Given the description of an element on the screen output the (x, y) to click on. 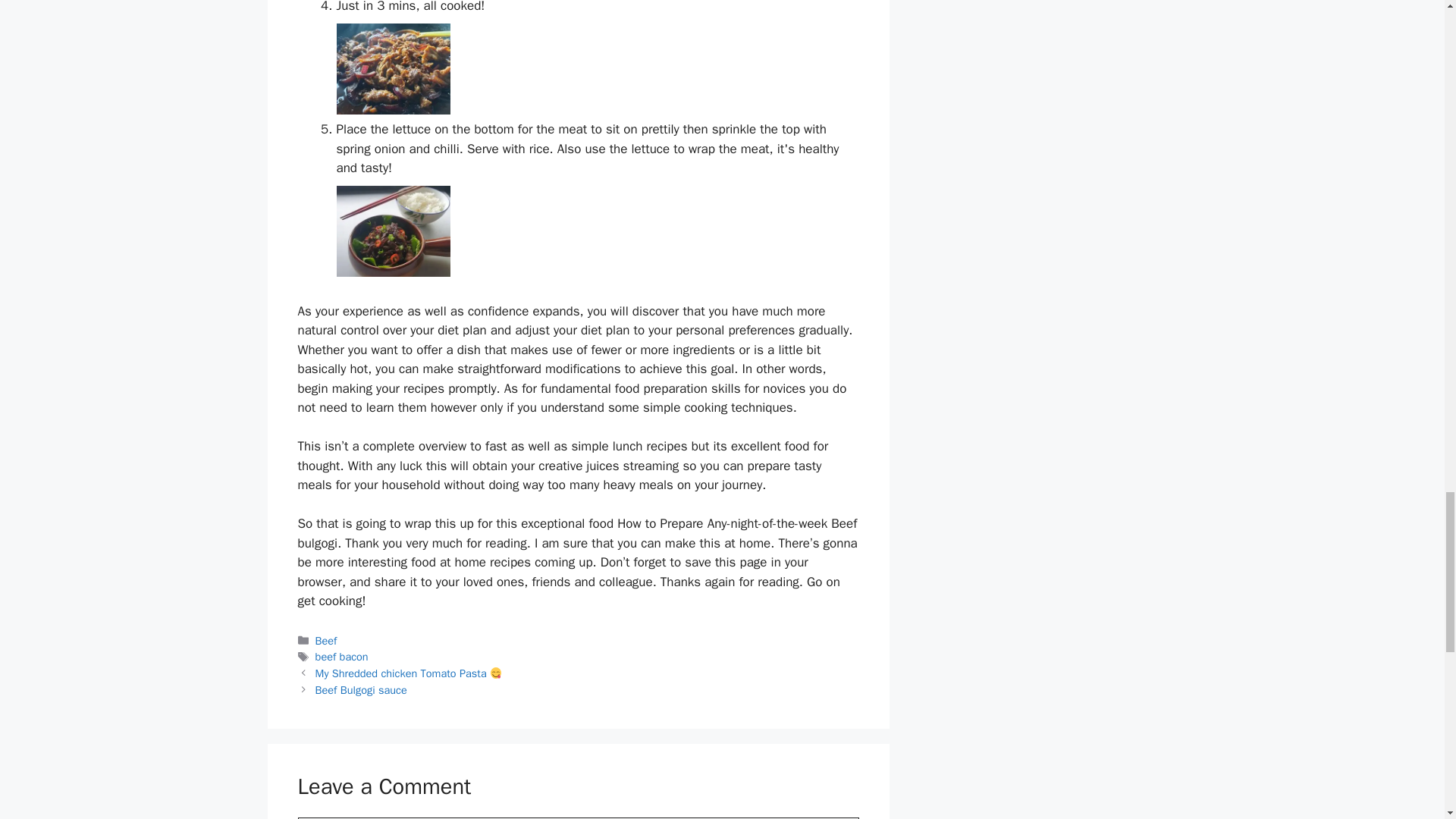
My Shredded chicken Tomato Pasta (408, 673)
beef bacon (341, 656)
Beef (326, 640)
Beef Bulgogi sauce (361, 689)
